Given the description of an element on the screen output the (x, y) to click on. 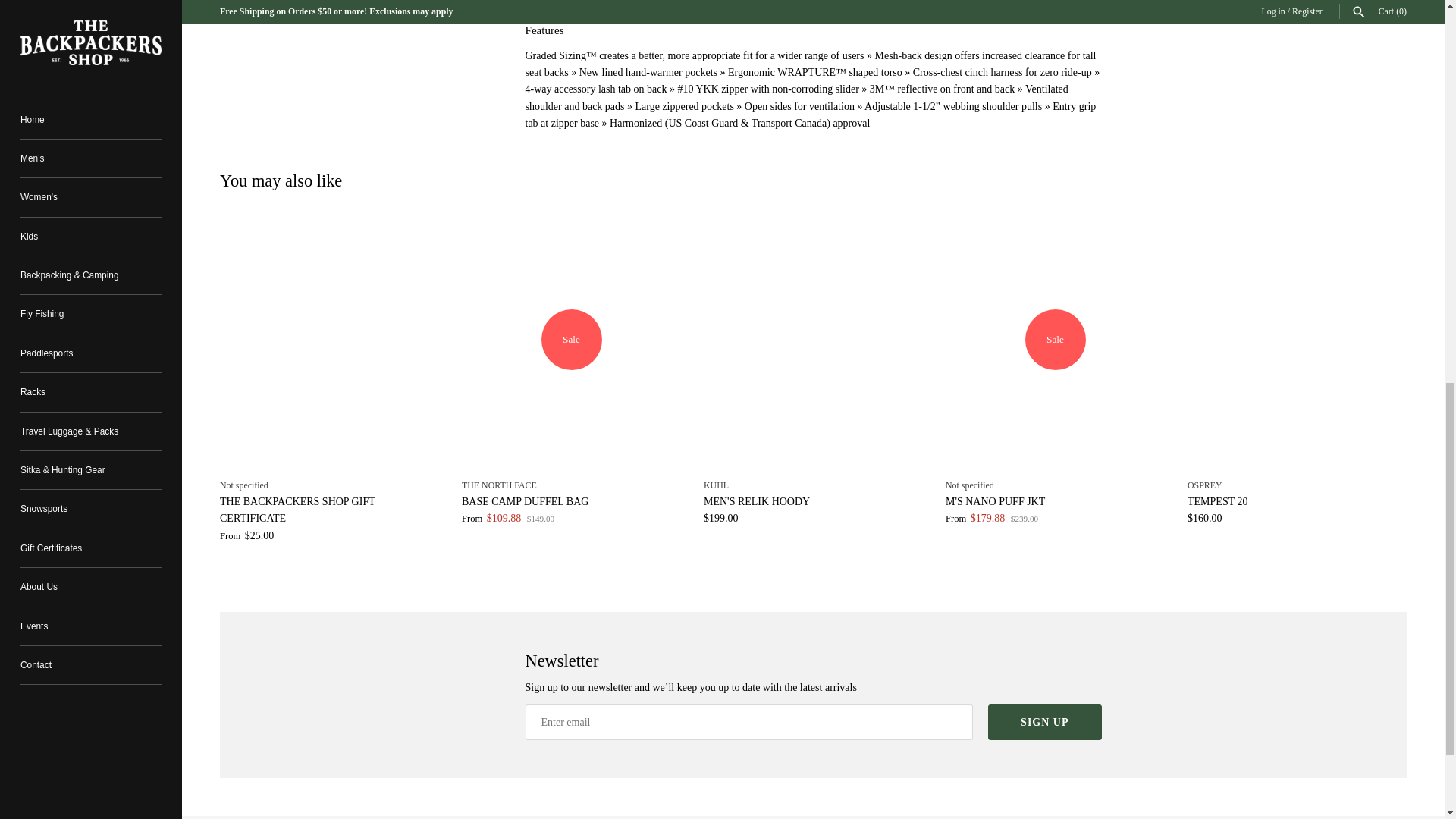
THE BACKPACKERS SHOP GIFT CERTIFICATE (329, 339)
MEN'S RELIK HOODY (813, 339)
M's Nano Puff Jkt (1054, 339)
BASE CAMP DUFFEL BAG (571, 339)
TEMPEST 20 (1297, 339)
